Given the description of an element on the screen output the (x, y) to click on. 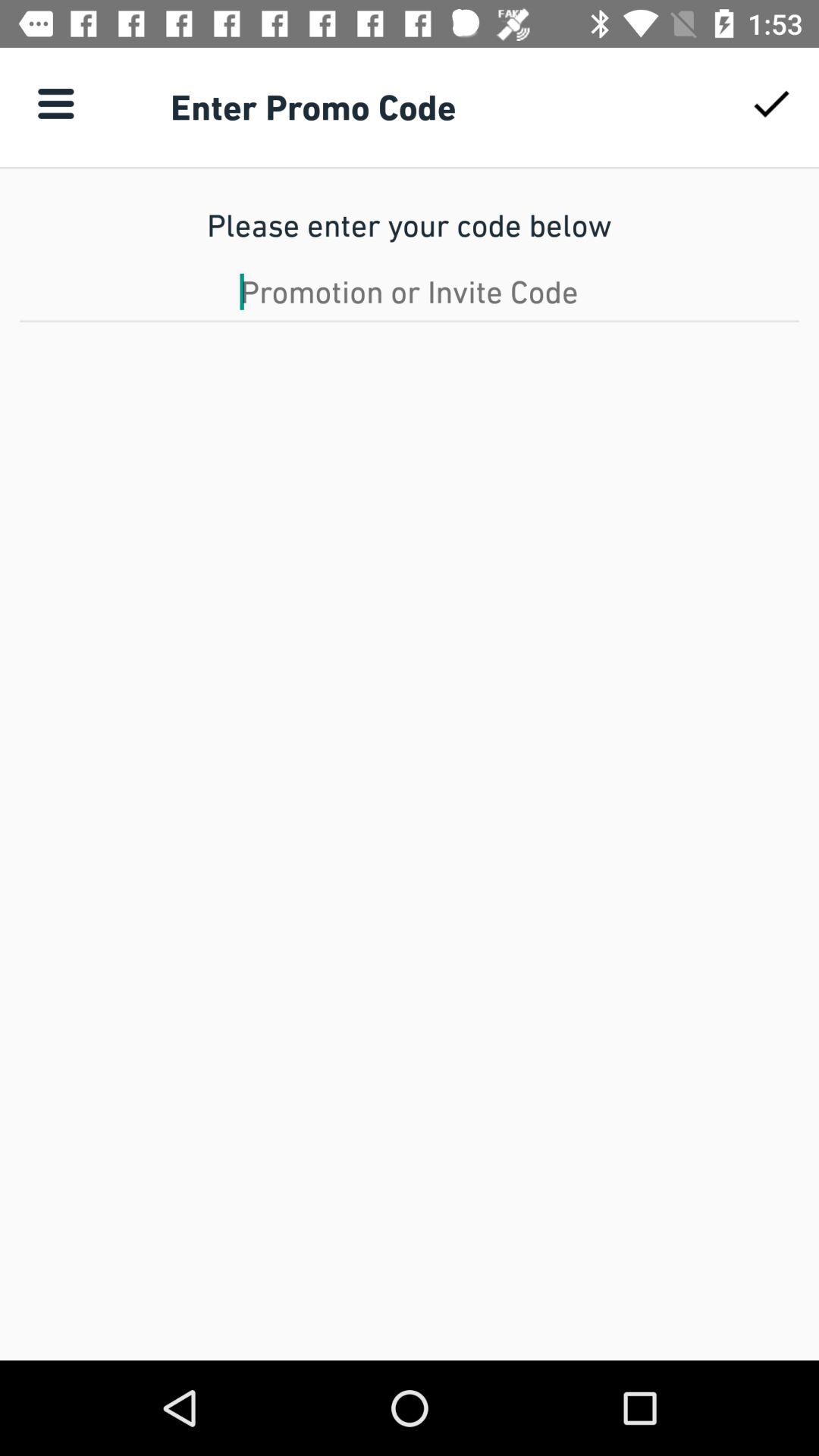
enter code (409, 291)
